Given the description of an element on the screen output the (x, y) to click on. 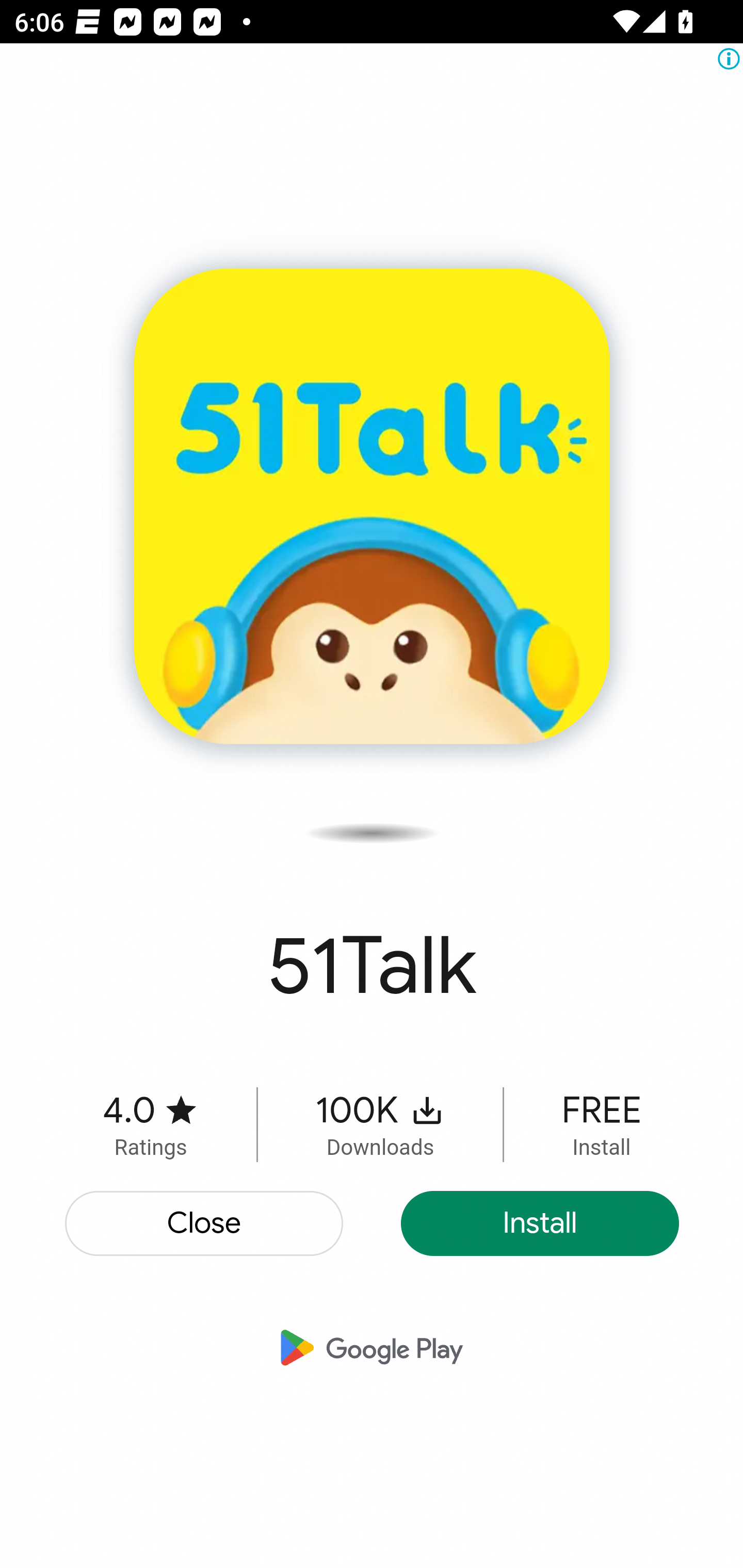
Close (204, 1222)
Install (539, 1222)
